Given the description of an element on the screen output the (x, y) to click on. 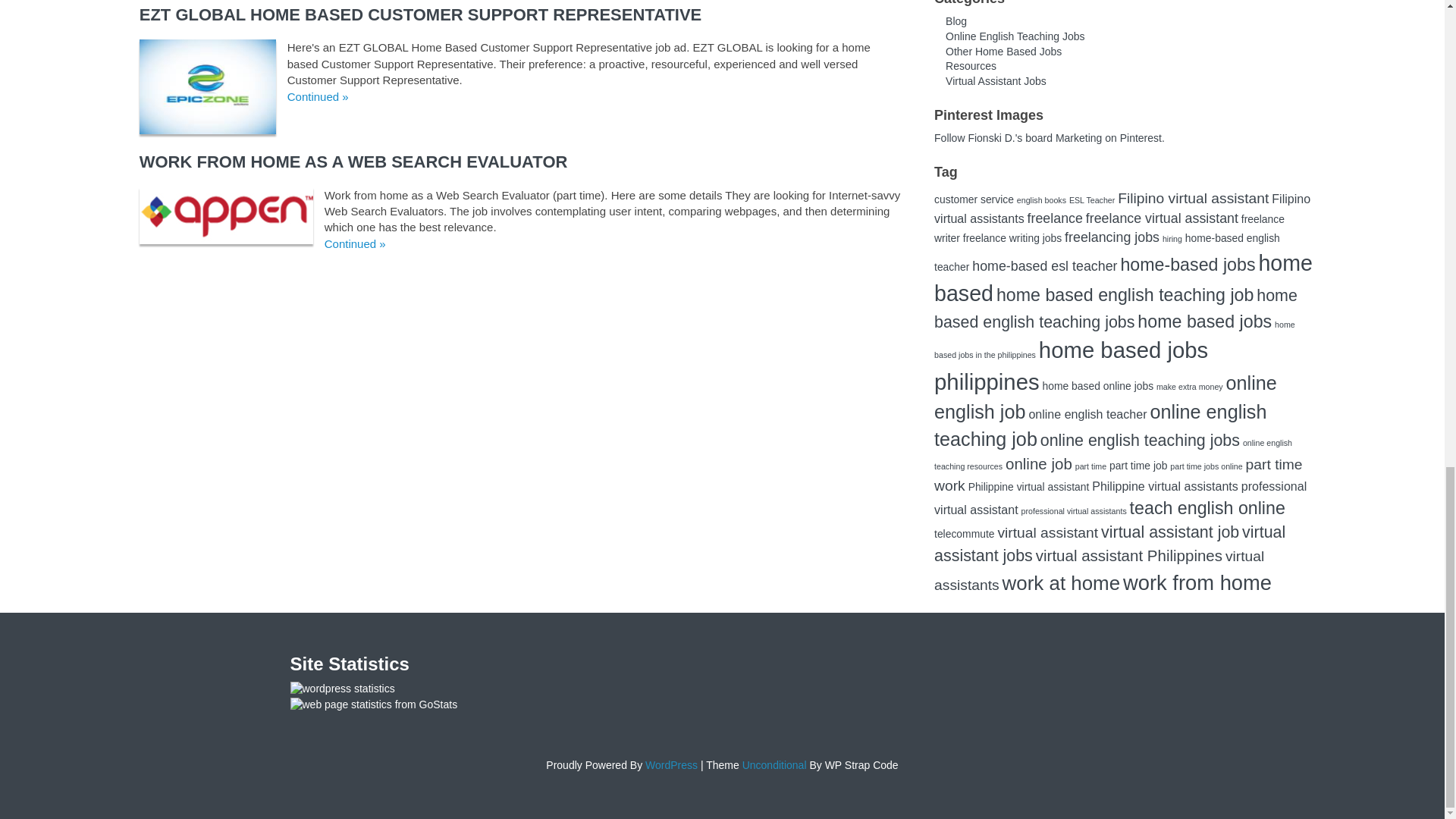
web page statistics from GoStats (373, 704)
WORK FROM HOME AS A WEB SEARCH EVALUATOR (353, 161)
EZT GLOBAL HOME BASED CUSTOMER SUPPORT REPRESENTATIVE (420, 14)
